Given the description of an element on the screen output the (x, y) to click on. 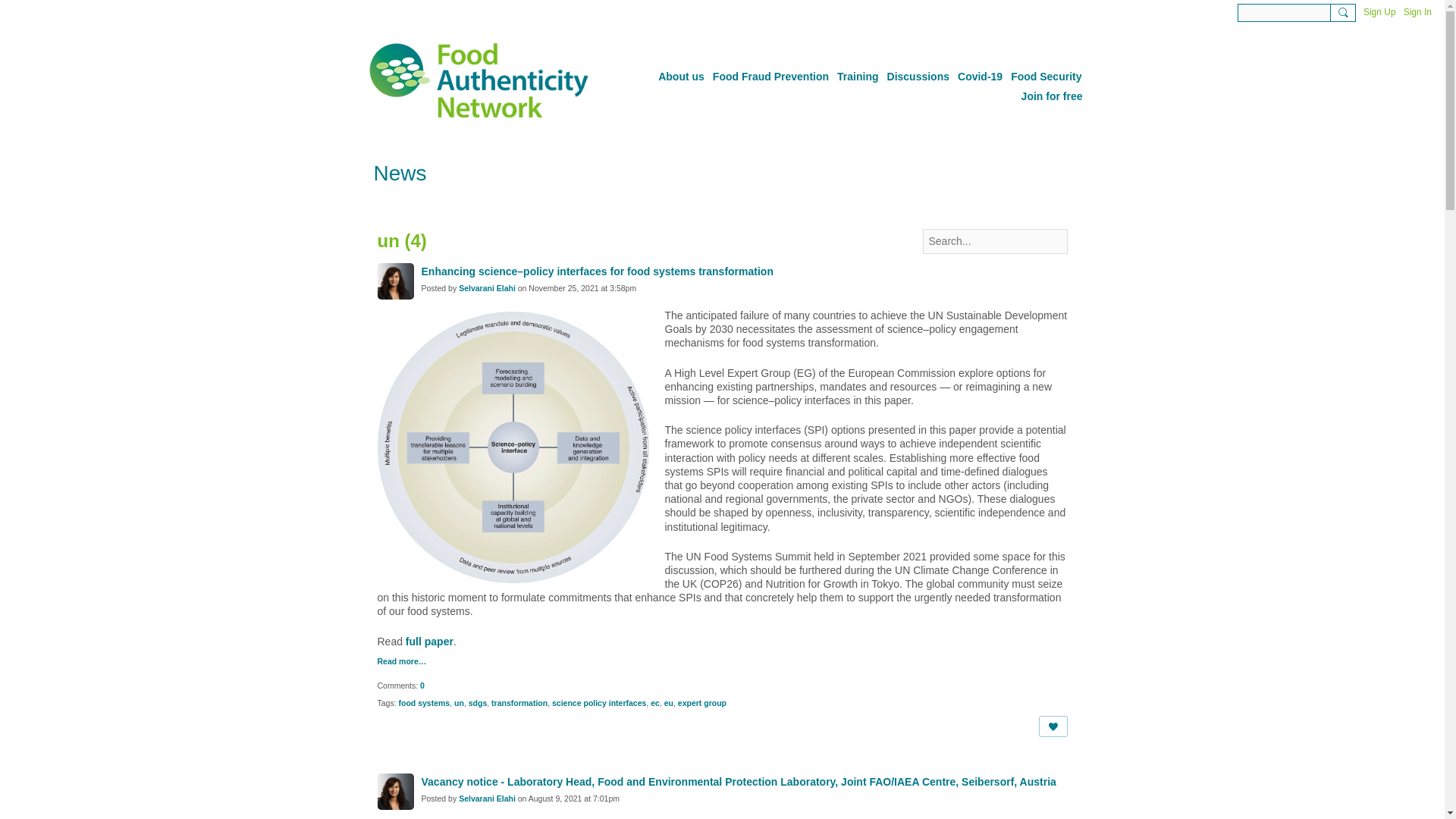
Food Fraud Prevention (770, 76)
Sign Up (1379, 12)
All Posts (392, 207)
About us (680, 76)
Food Security (1045, 76)
Like (1053, 726)
Sign In (1417, 12)
Training (857, 76)
Covid-19 (979, 76)
Join for free (1051, 96)
Featured Posts (468, 207)
Discussions (918, 76)
